Given the description of an element on the screen output the (x, y) to click on. 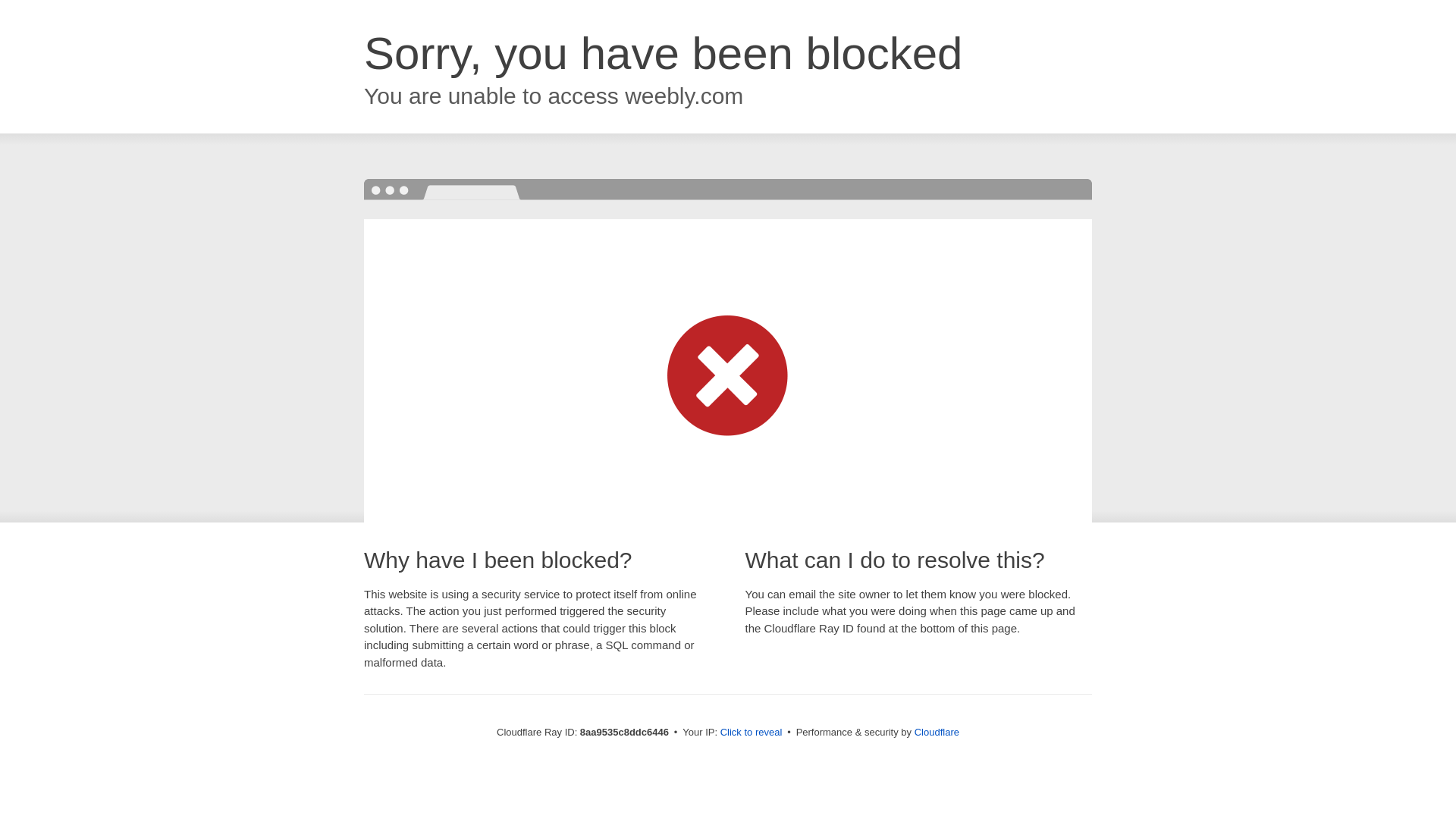
Click to reveal (751, 732)
Cloudflare (936, 731)
